Given the description of an element on the screen output the (x, y) to click on. 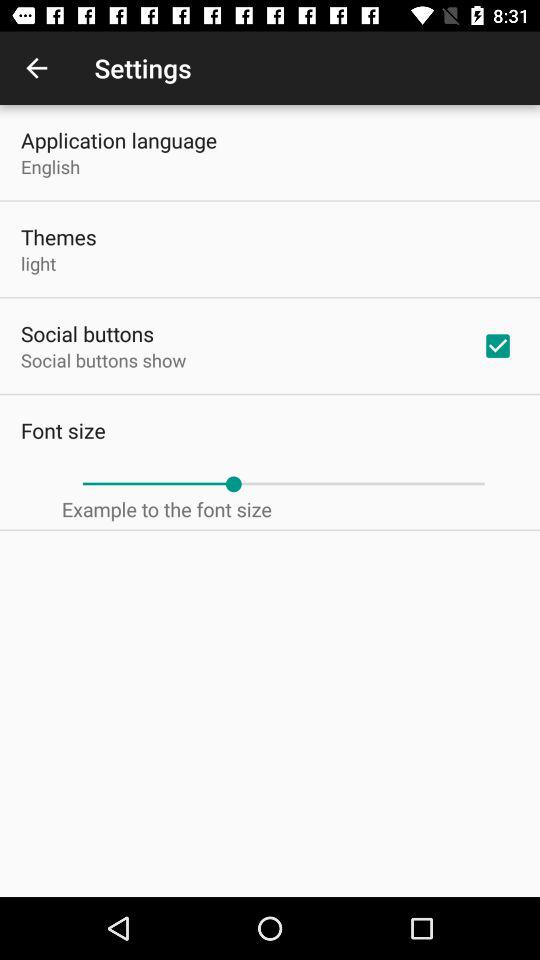
choose the icon above english (119, 139)
